Given the description of an element on the screen output the (x, y) to click on. 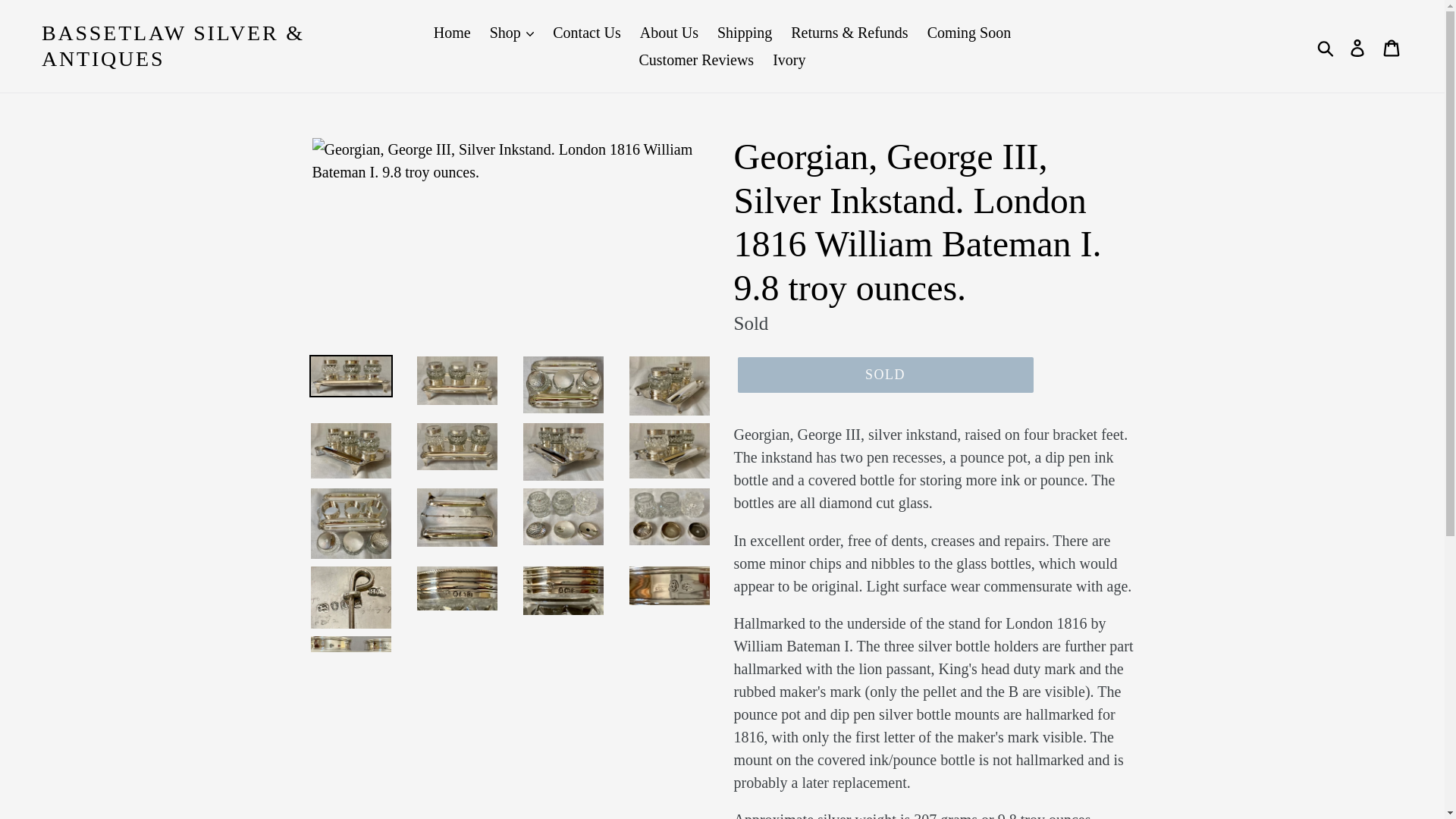
Log in (1357, 46)
Contact Us (585, 31)
About Us (668, 31)
Customer Reviews (695, 59)
Home (452, 31)
Coming Soon (969, 31)
Shipping (744, 31)
Ivory (788, 59)
Submit (1326, 45)
Cart (1392, 46)
